Given the description of an element on the screen output the (x, y) to click on. 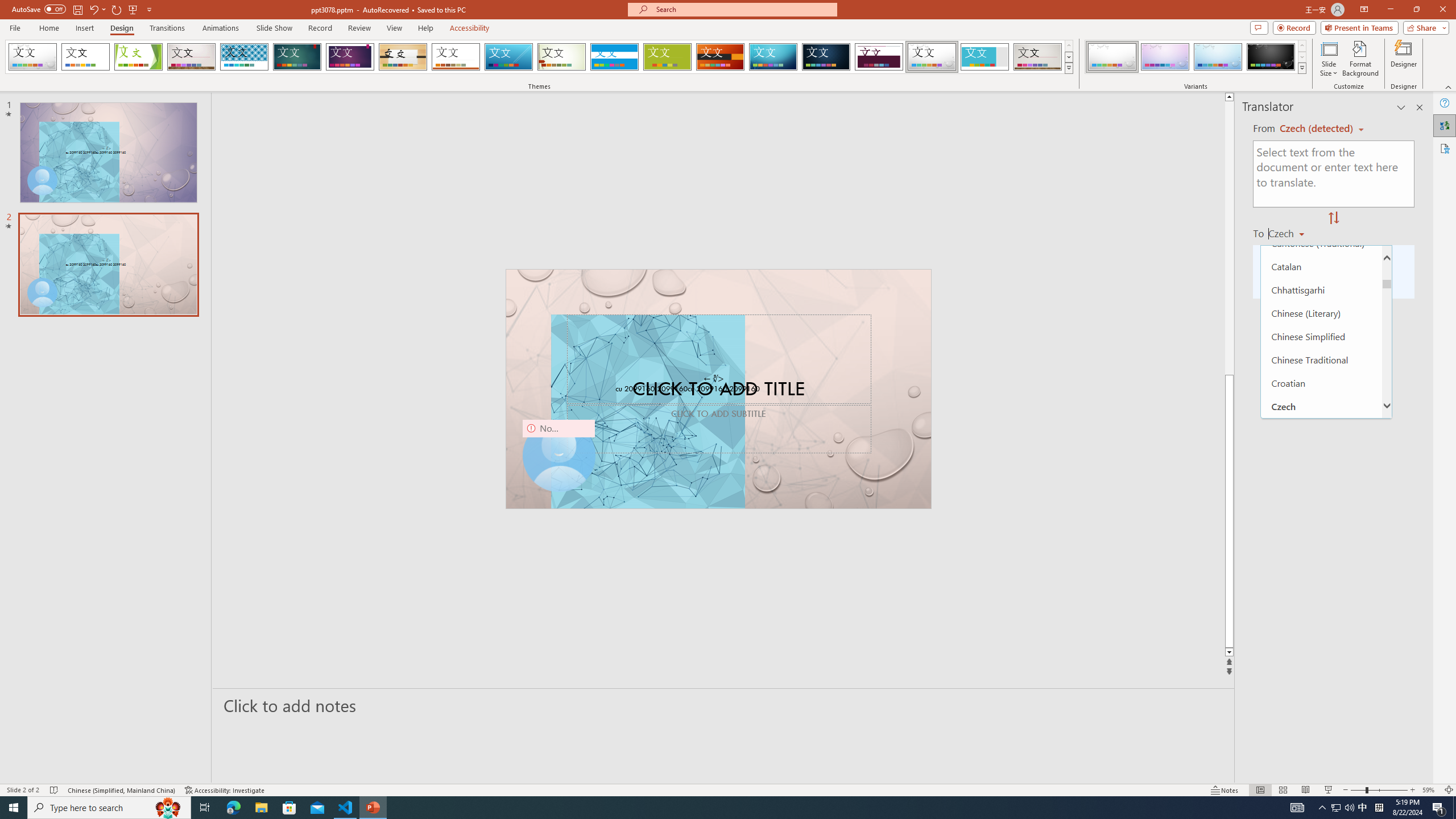
Basque (1320, 126)
Title TextBox (718, 358)
Georgian (1320, 778)
Integral (244, 56)
Bosnian (1320, 196)
Office Theme (85, 56)
